Given the description of an element on the screen output the (x, y) to click on. 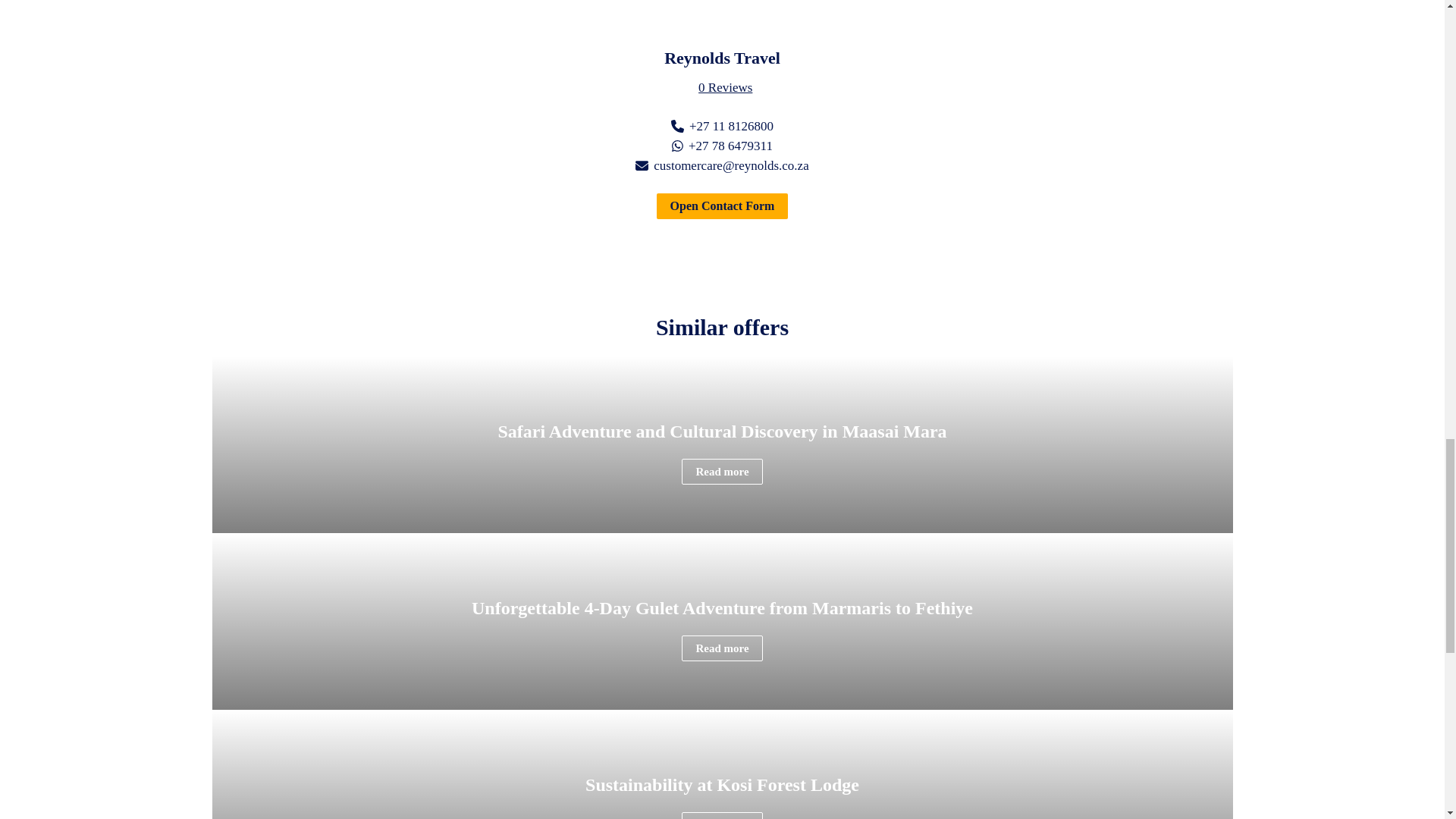
Open Contact Form (722, 206)
